Given the description of an element on the screen output the (x, y) to click on. 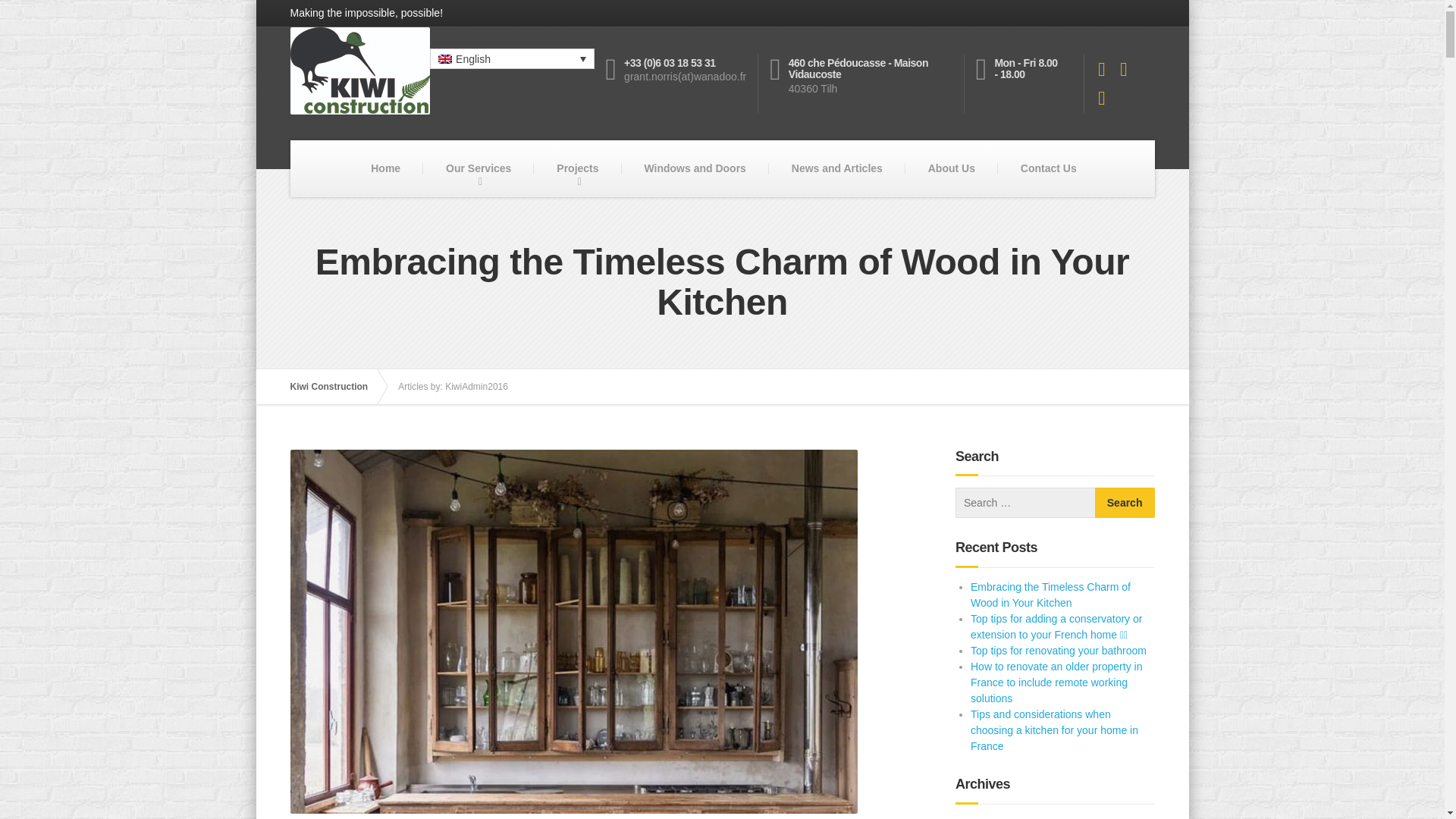
News and Articles (836, 168)
About Us (951, 168)
Contact Us (1048, 168)
Home (385, 168)
Search (1124, 502)
Search (1124, 502)
Windows and Doors (694, 168)
Projects (577, 168)
English (511, 58)
Our Services (478, 168)
